Given the description of an element on the screen output the (x, y) to click on. 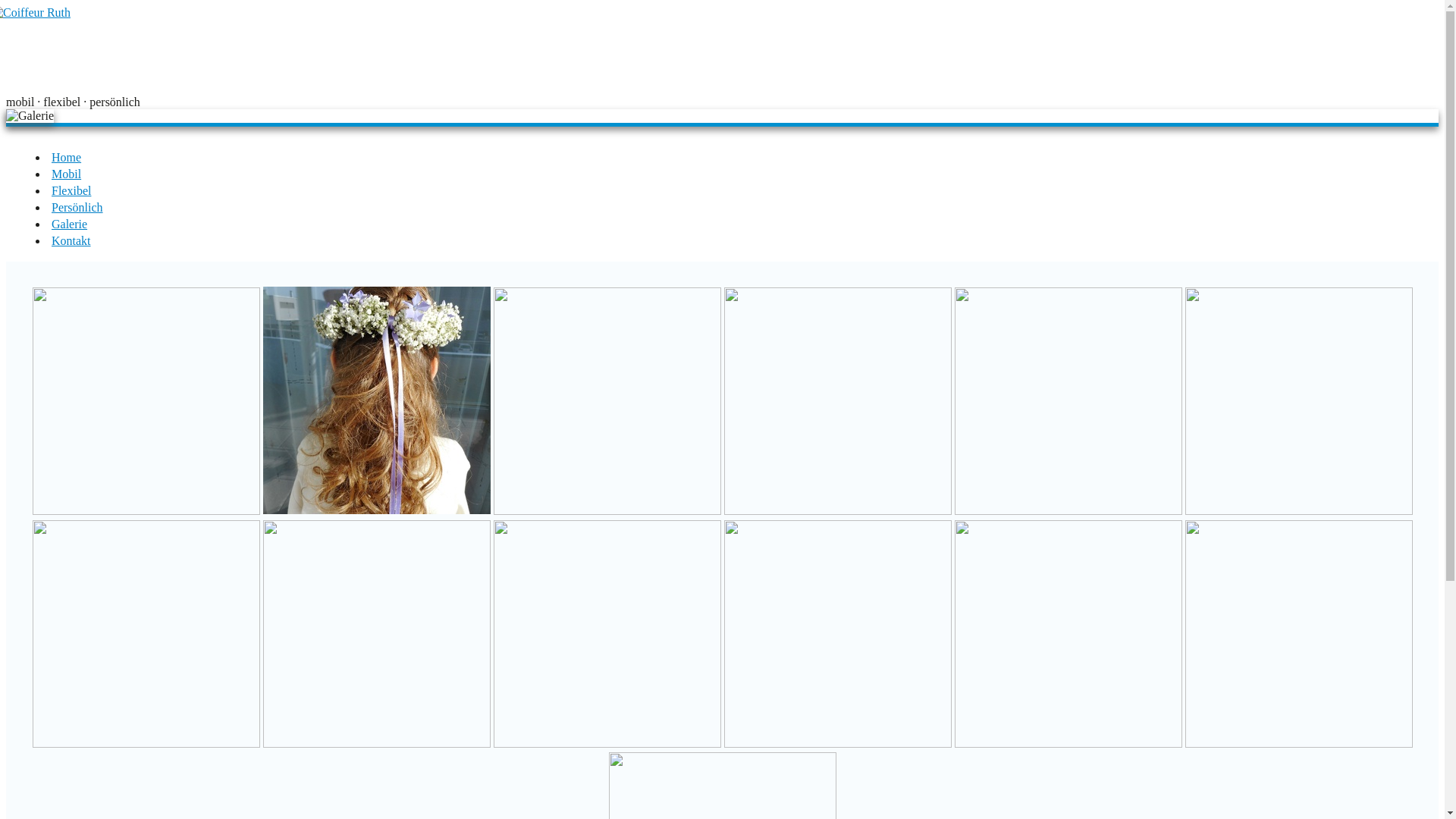
Mobil Element type: text (66, 173)
Galerie Element type: hover (29, 115)
Kontakt Element type: text (71, 240)
Galerie Element type: text (69, 223)
Home Element type: text (66, 156)
Flexibel Element type: text (71, 190)
